Given the description of an element on the screen output the (x, y) to click on. 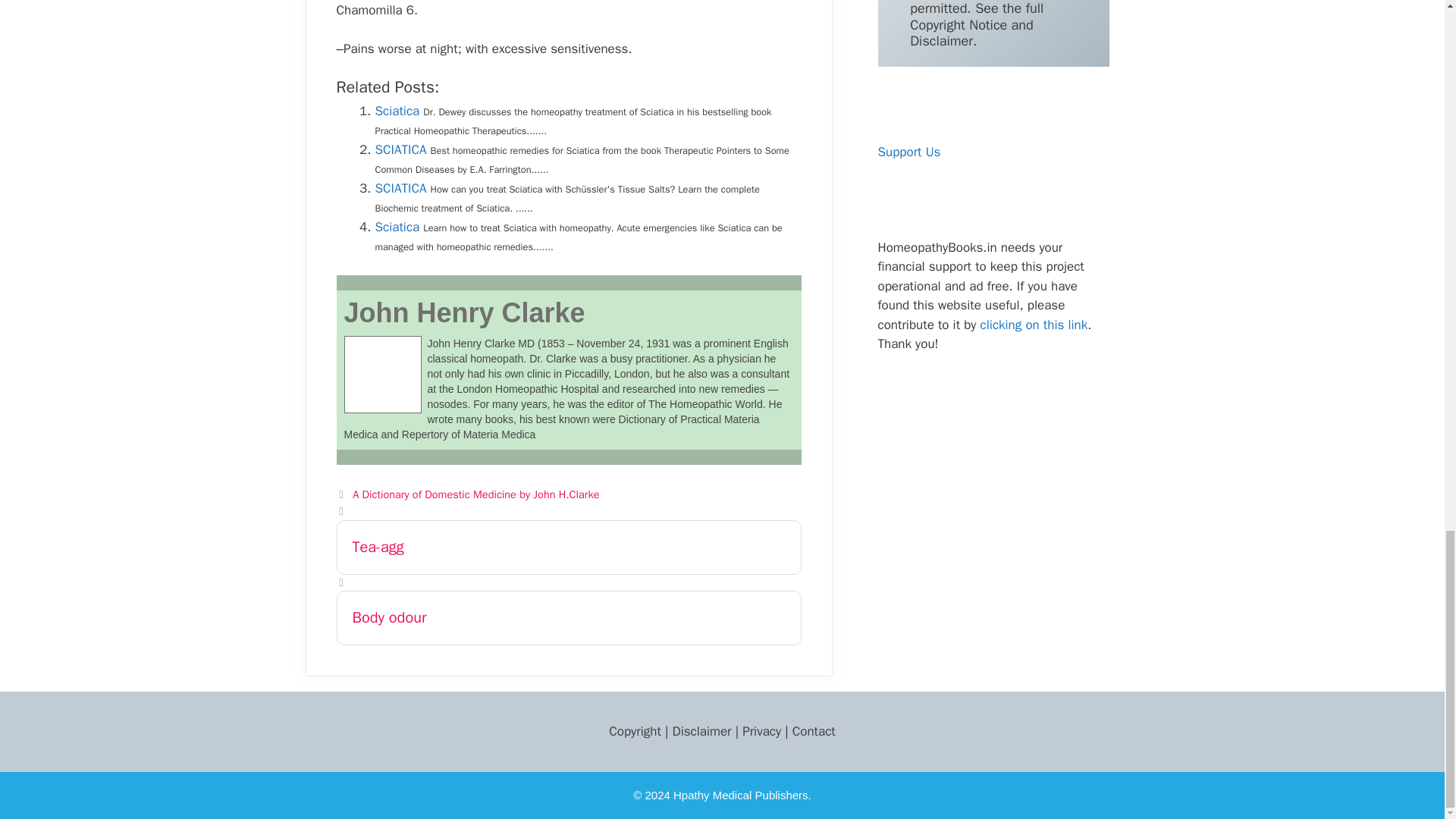
A Dictionary of Domestic Medicine by John H.Clarke (475, 494)
SCIATICA (400, 188)
Sciatica (396, 110)
Tea-agg (569, 547)
Disclaimer (700, 731)
John Henry Clarke (464, 312)
SCIATICA (400, 188)
Contact (813, 731)
Sciatica (396, 110)
clicking on this link (1033, 324)
